Given the description of an element on the screen output the (x, y) to click on. 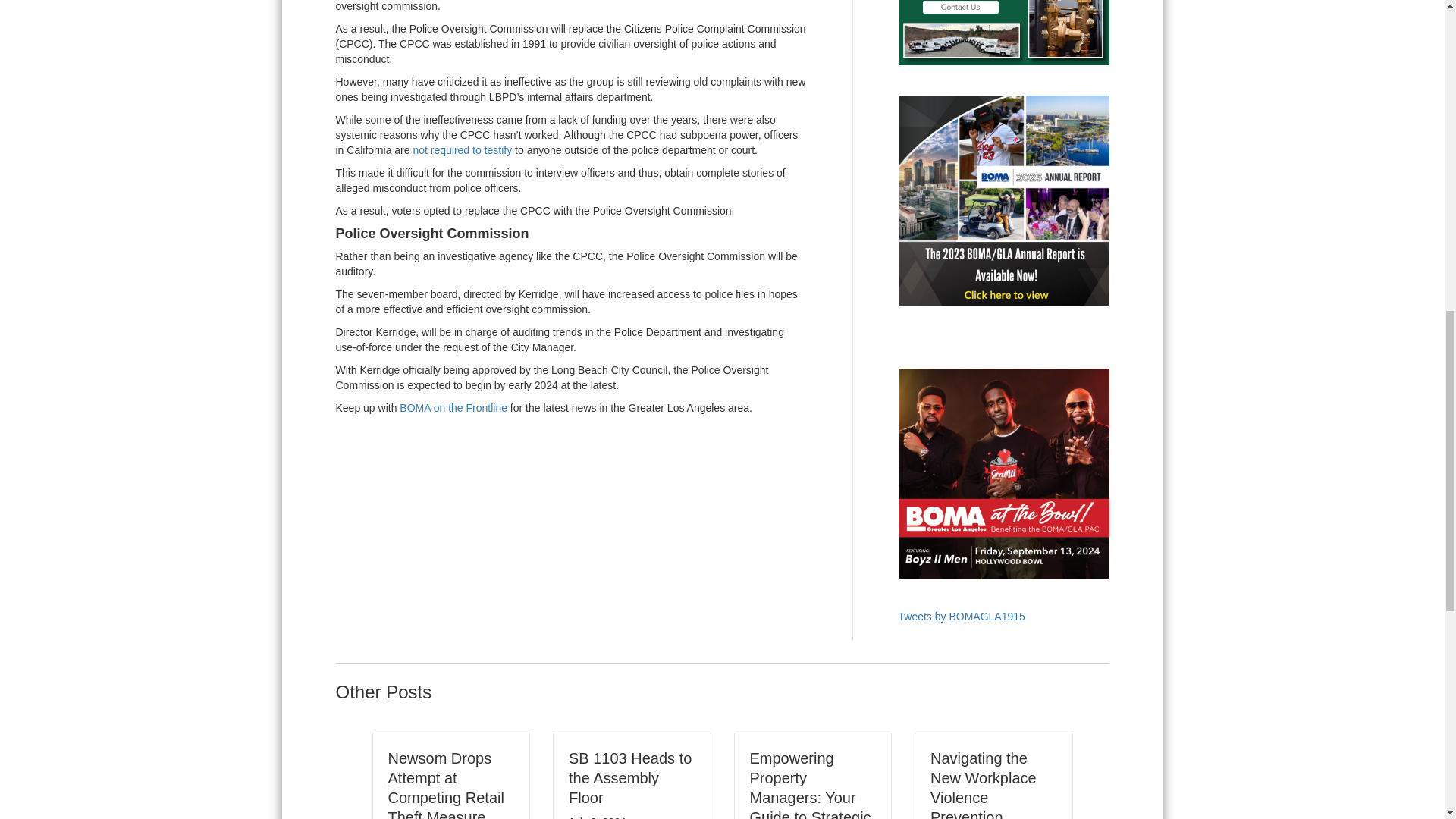
Tweets by BOMAGLA1915 (961, 616)
not required to testify (462, 150)
Newsom Drops Attempt at Competing Retail Theft Measure  (445, 784)
SB 1103 Heads to the Assembly Floor (630, 777)
Andersen Commercial Plumbing (1003, 32)
BOMA on the frontline - annual report ad (1003, 200)
BOMA on the Frontline (452, 408)
